Given the description of an element on the screen output the (x, y) to click on. 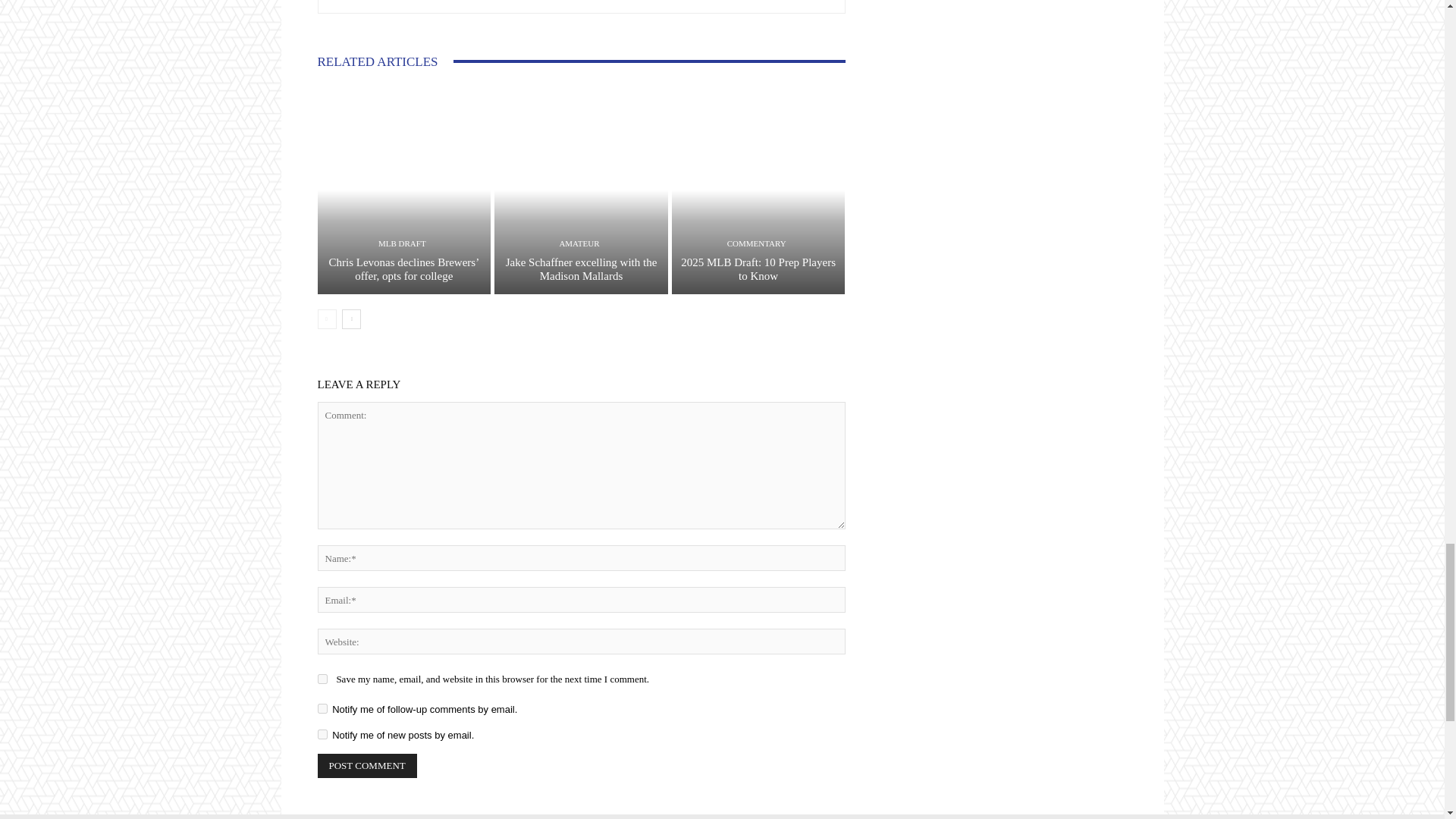
yes (321, 678)
subscribe (321, 708)
subscribe (321, 734)
Post Comment (366, 765)
